Given the description of an element on the screen output the (x, y) to click on. 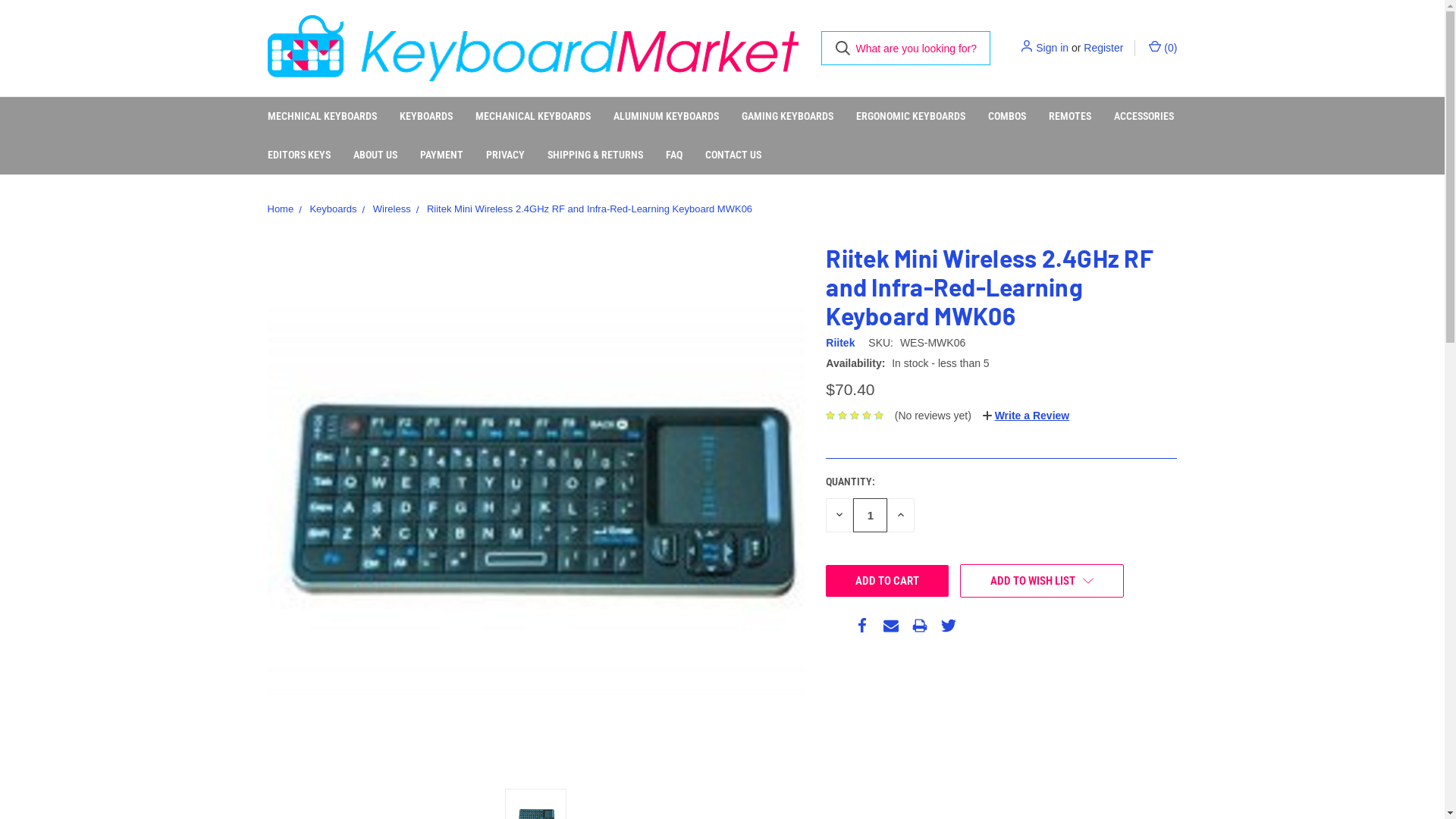
Riitek Element type: text (839, 342)
ABOUT US Element type: text (374, 154)
(0) Element type: text (1161, 48)
MECHANICAL KEYBOARDS Element type: text (533, 116)
DECREASE QUANTITY: Element type: text (839, 515)
SHIPPING & RETURNS Element type: text (594, 154)
Register Element type: text (1103, 48)
CONTACT US Element type: text (732, 154)
KeyboardMarket.com.au - just the best keyboards! Element type: hover (531, 48)
ALUMINUM KEYBOARDS Element type: text (666, 116)
PAYMENT Element type: text (440, 154)
COMBOS Element type: text (1006, 116)
EDITORS KEYS Element type: text (299, 154)
MECHNICAL KEYBOARDS Element type: text (322, 116)
Add to Cart Element type: text (886, 580)
ERGONOMIC KEYBOARDS Element type: text (910, 116)
Keyboards Element type: text (332, 208)
PRIVACY Element type: text (505, 154)
Home Element type: text (279, 208)
INCREASE QUANTITY: Element type: text (900, 515)
KEYBOARDS Element type: text (426, 116)
ADD TO WISH LIST Element type: text (1041, 580)
ACCESSORIES Element type: text (1143, 116)
FAQ Element type: text (673, 154)
Wireless Element type: text (392, 208)
REMOTES Element type: text (1069, 116)
Write a Review Element type: text (1025, 415)
Sign in Element type: text (1051, 48)
GAMING KEYBOARDS Element type: text (786, 116)
